Given the description of an element on the screen output the (x, y) to click on. 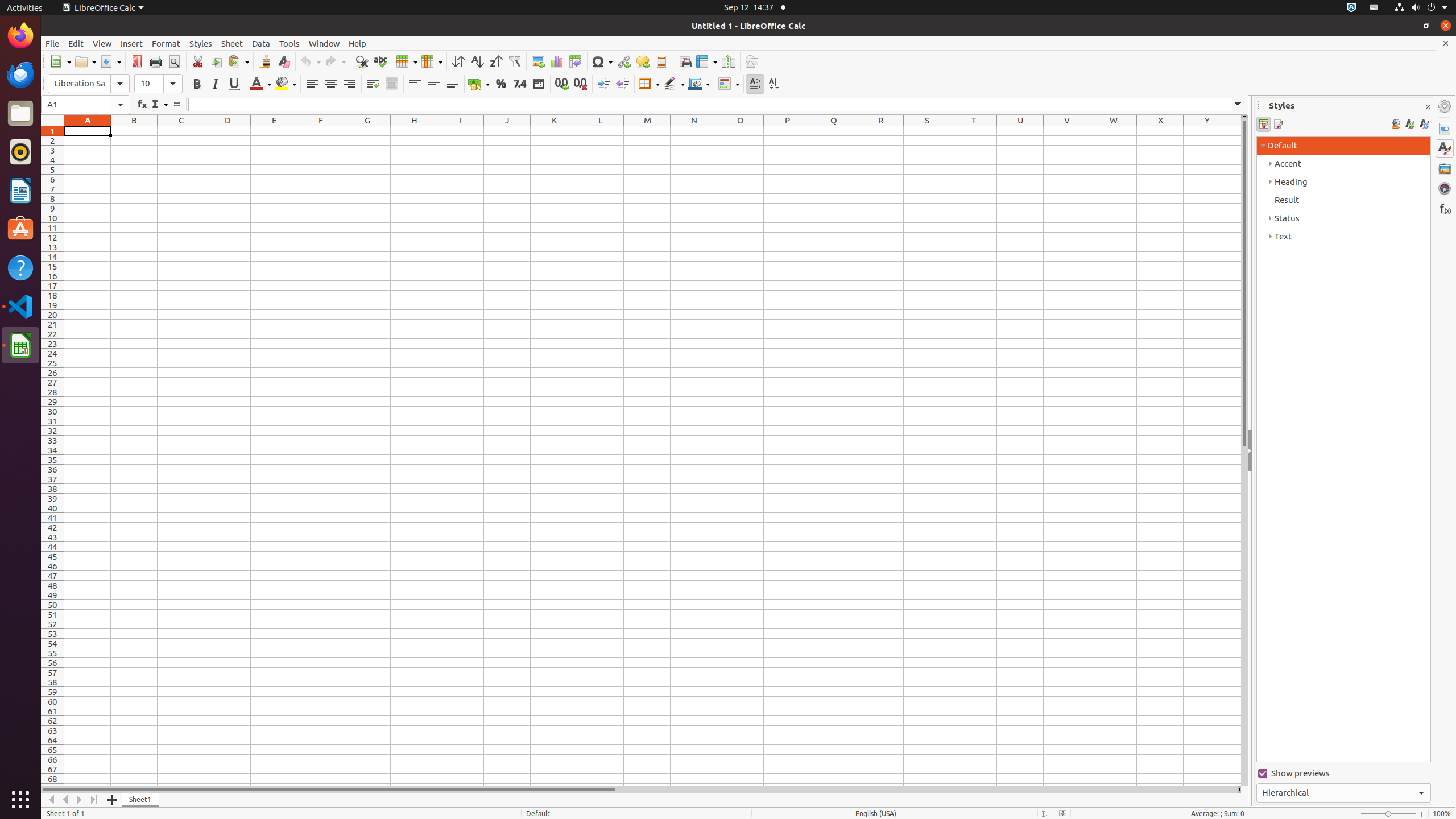
Name Box Element type: combo-box (85, 104)
Z1 Element type: table-cell (1235, 130)
Styles Element type: radio-button (1444, 148)
S1 Element type: table-cell (926, 130)
L1 Element type: table-cell (600, 130)
